Given the description of an element on the screen output the (x, y) to click on. 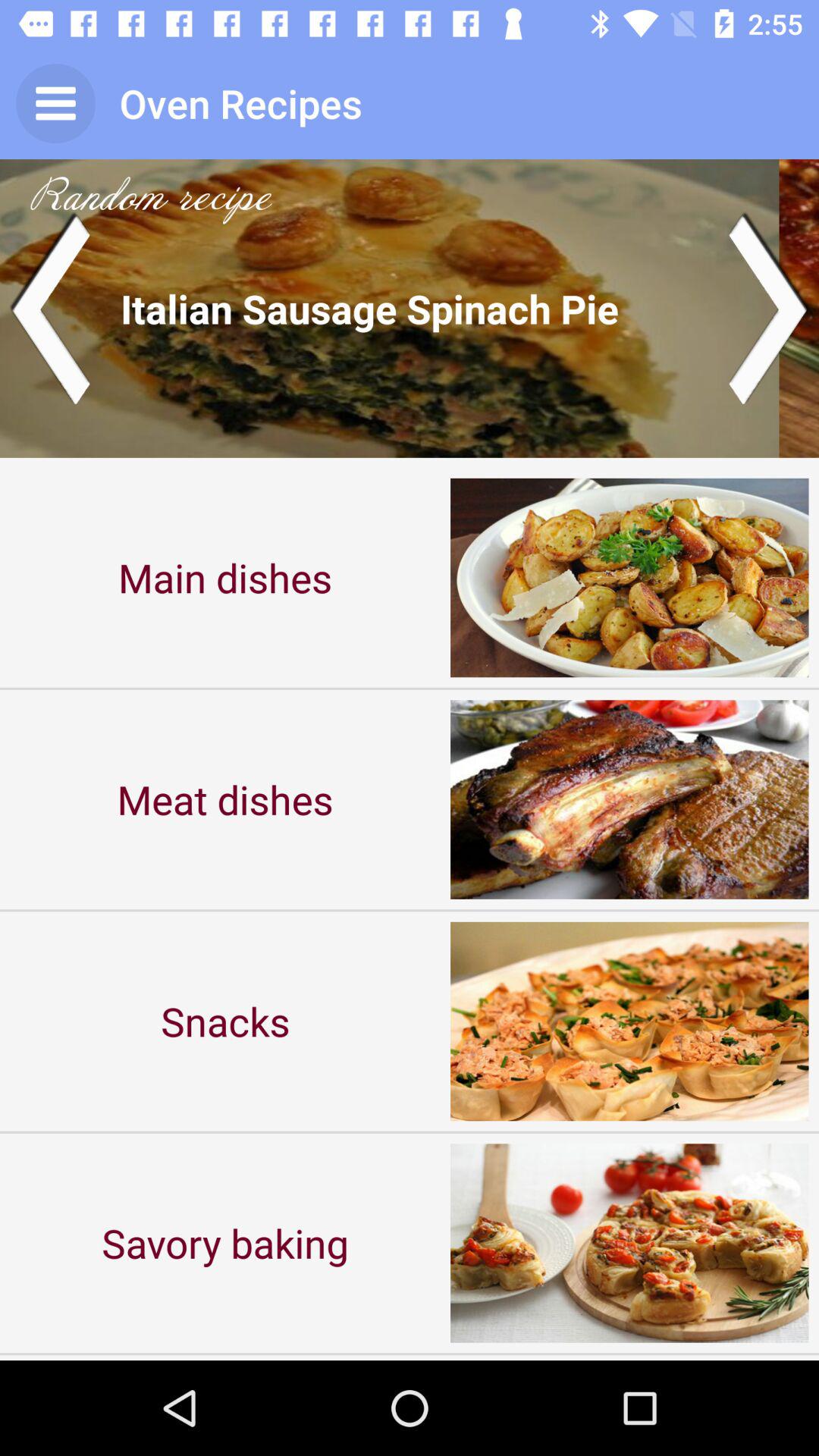
open the item below the savory baking (225, 1357)
